Given the description of an element on the screen output the (x, y) to click on. 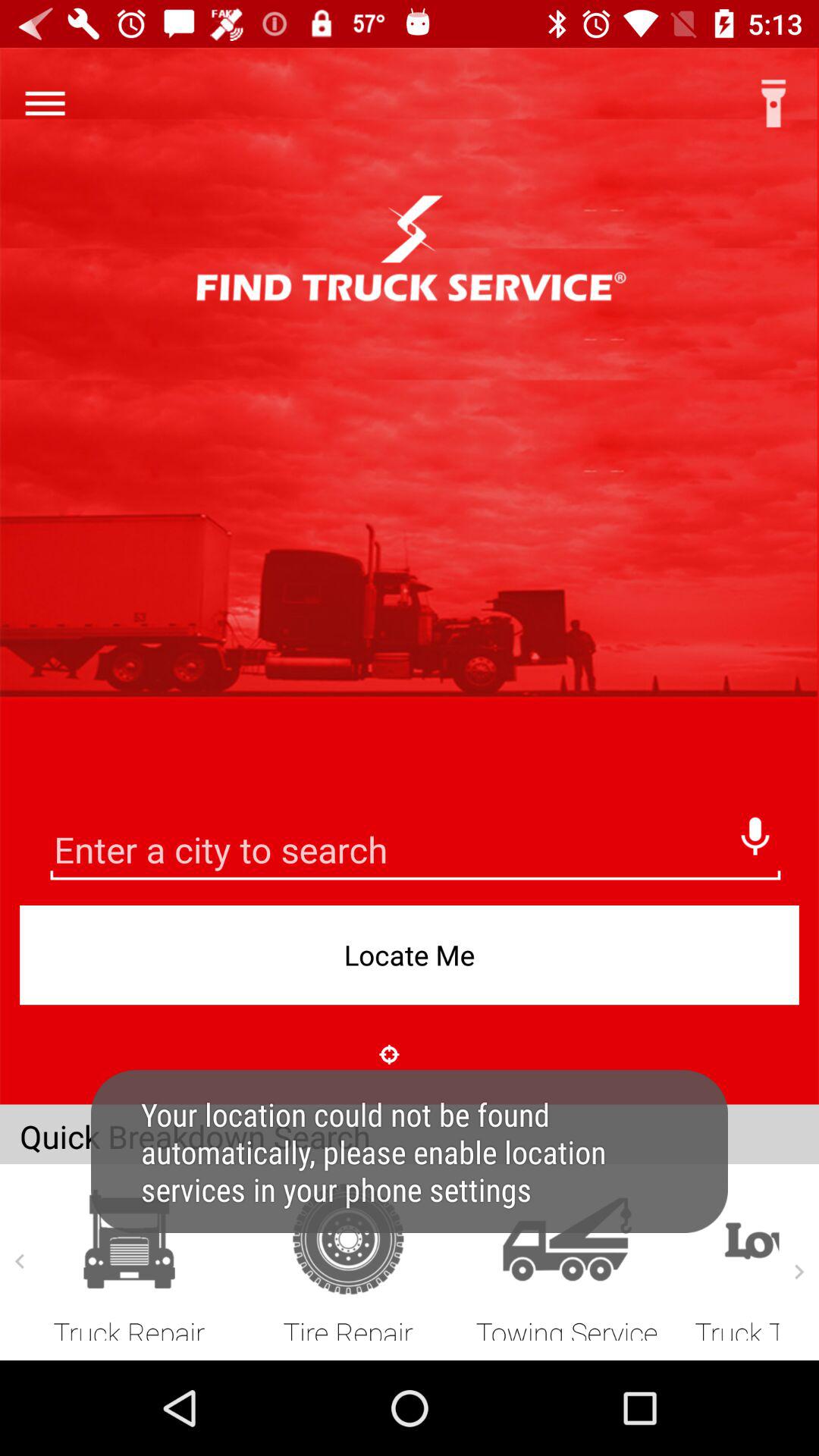
voice search (755, 832)
